Given the description of an element on the screen output the (x, y) to click on. 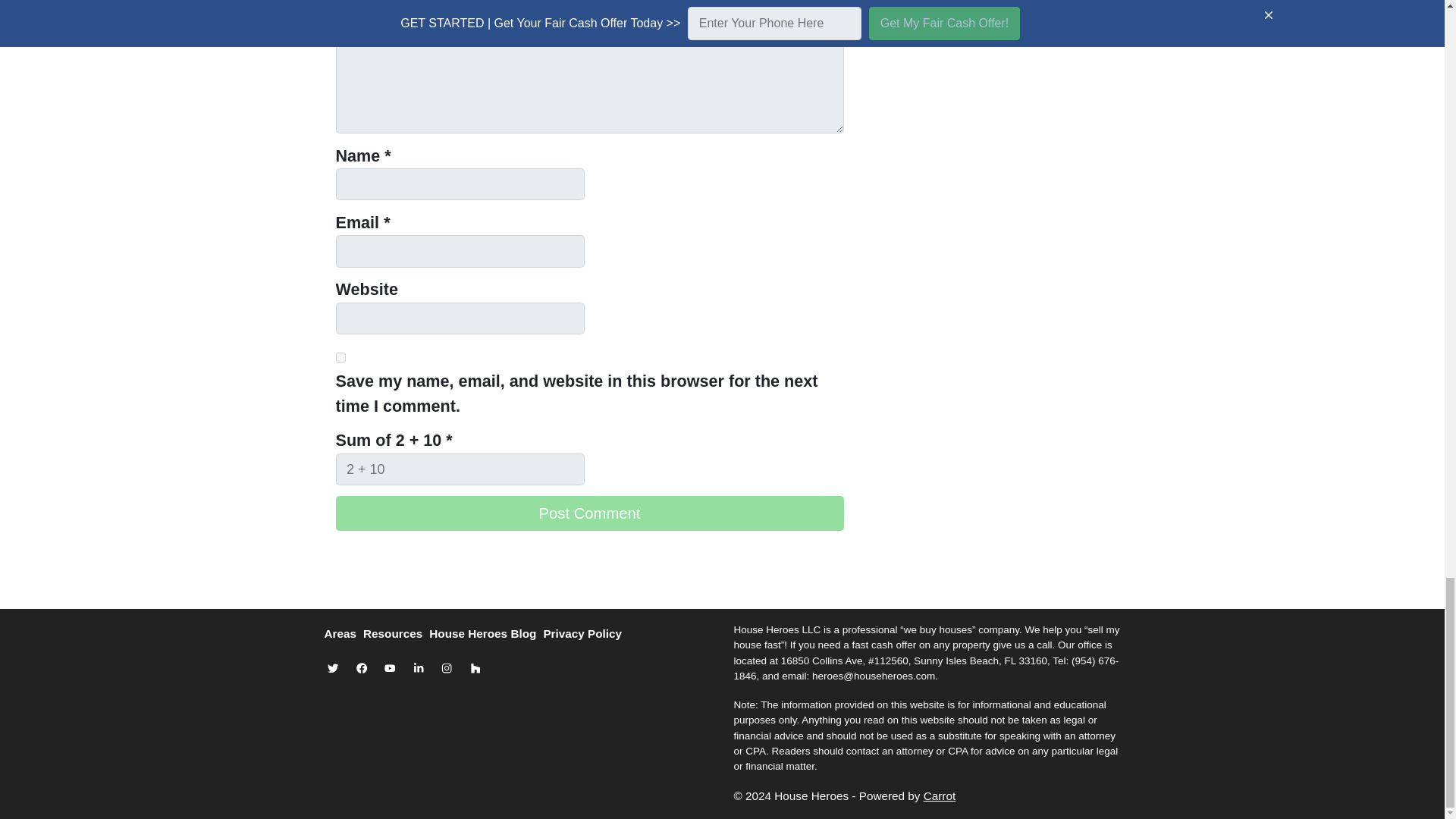
Facebook (361, 668)
Post Comment (588, 513)
Carrot (939, 795)
LinkedIn (418, 668)
Houzz (474, 668)
Instagram (447, 668)
Resources (395, 633)
YouTube (389, 668)
yes (339, 357)
House Heroes Blog (486, 633)
